Given the description of an element on the screen output the (x, y) to click on. 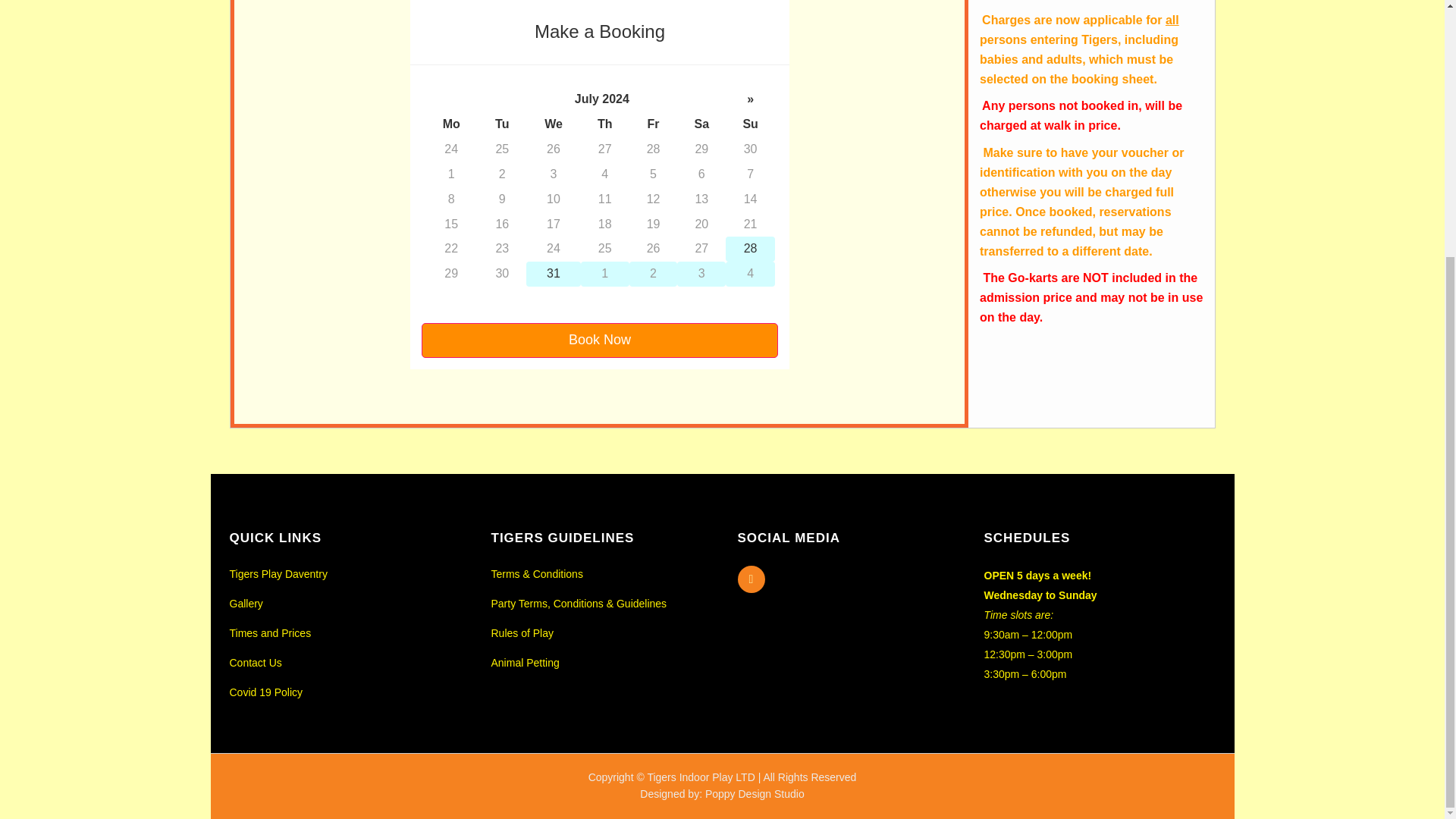
Rules of Play (603, 632)
Covid 19 Policy (346, 692)
Poppy Design Studio (754, 793)
Contact Us (346, 662)
Times and Prices (346, 632)
Tigers Play Daventry (346, 573)
Animal Petting (603, 662)
Gallery (346, 603)
